Given the description of an element on the screen output the (x, y) to click on. 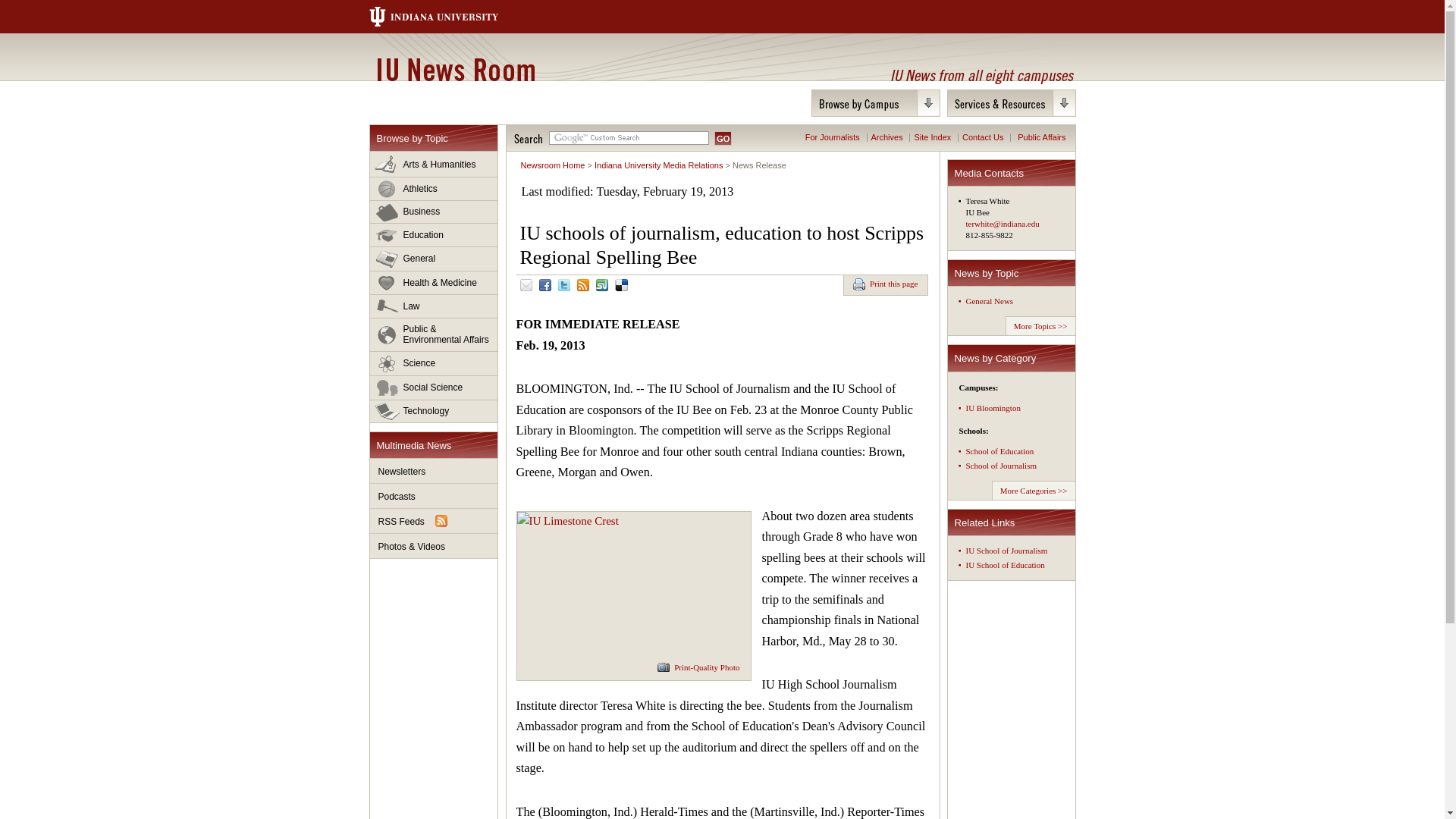
IU News Room (455, 69)
RSS Feeds (433, 520)
Education (433, 235)
Podcasts (433, 496)
Education (433, 235)
General (433, 259)
Technology (433, 411)
IU News Room (455, 69)
Business (433, 211)
Social Science (433, 387)
Law (433, 306)
Athletics (433, 188)
Newsletters (433, 471)
General (433, 259)
Athletics (433, 188)
